Given the description of an element on the screen output the (x, y) to click on. 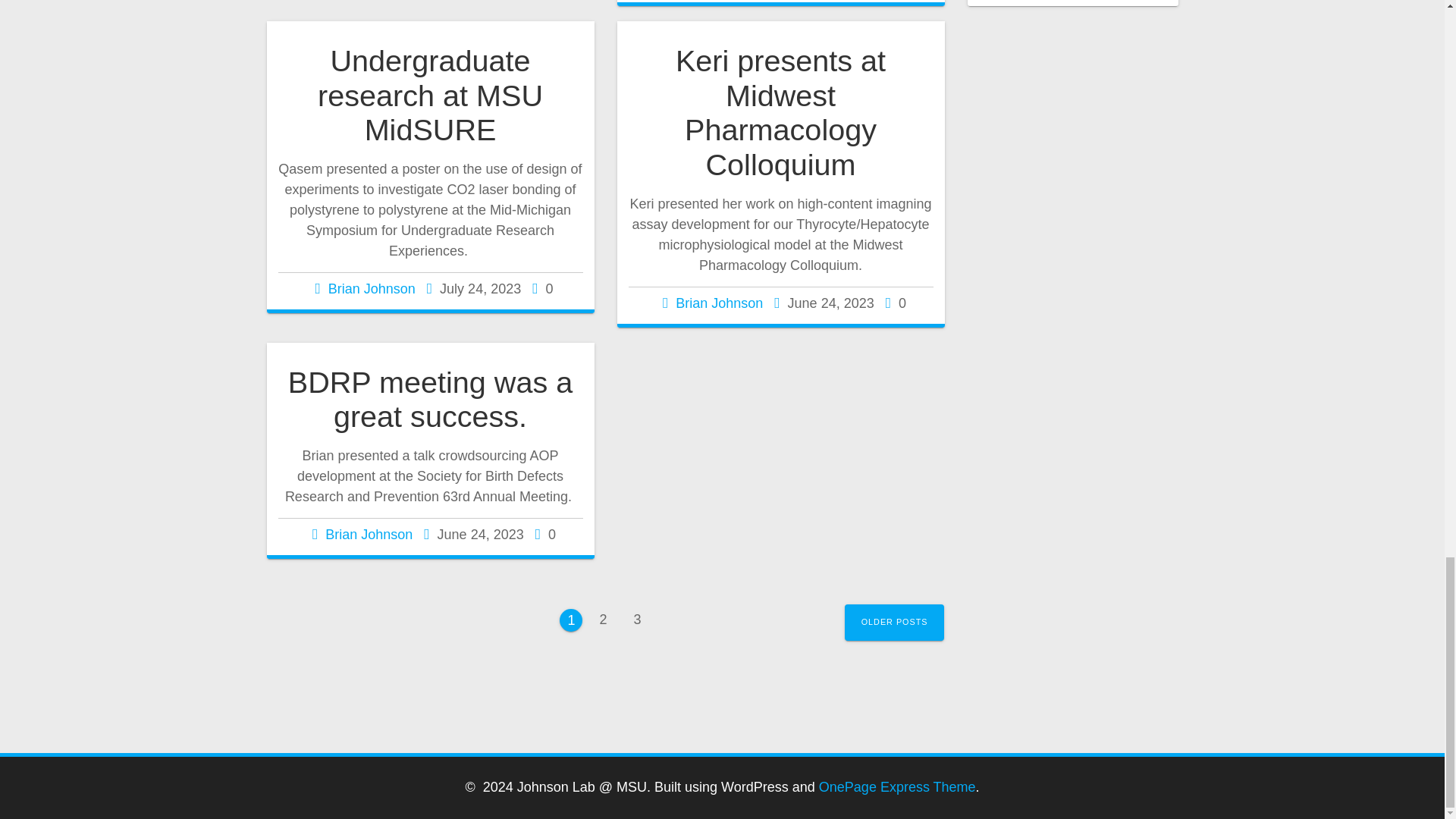
Undergraduate research at MSU MidSURE (636, 619)
Brian Johnson (430, 95)
Brian Johnson (371, 288)
Posts by Brian Johnson (718, 303)
Brian Johnson (371, 288)
Posts by Brian Johnson (602, 619)
BDRP meeting was a great success. (368, 534)
OLDER POSTS (718, 303)
Posts by Brian Johnson (430, 399)
Keri presents at Midwest Pharmacology Colloquium (894, 621)
